Given the description of an element on the screen output the (x, y) to click on. 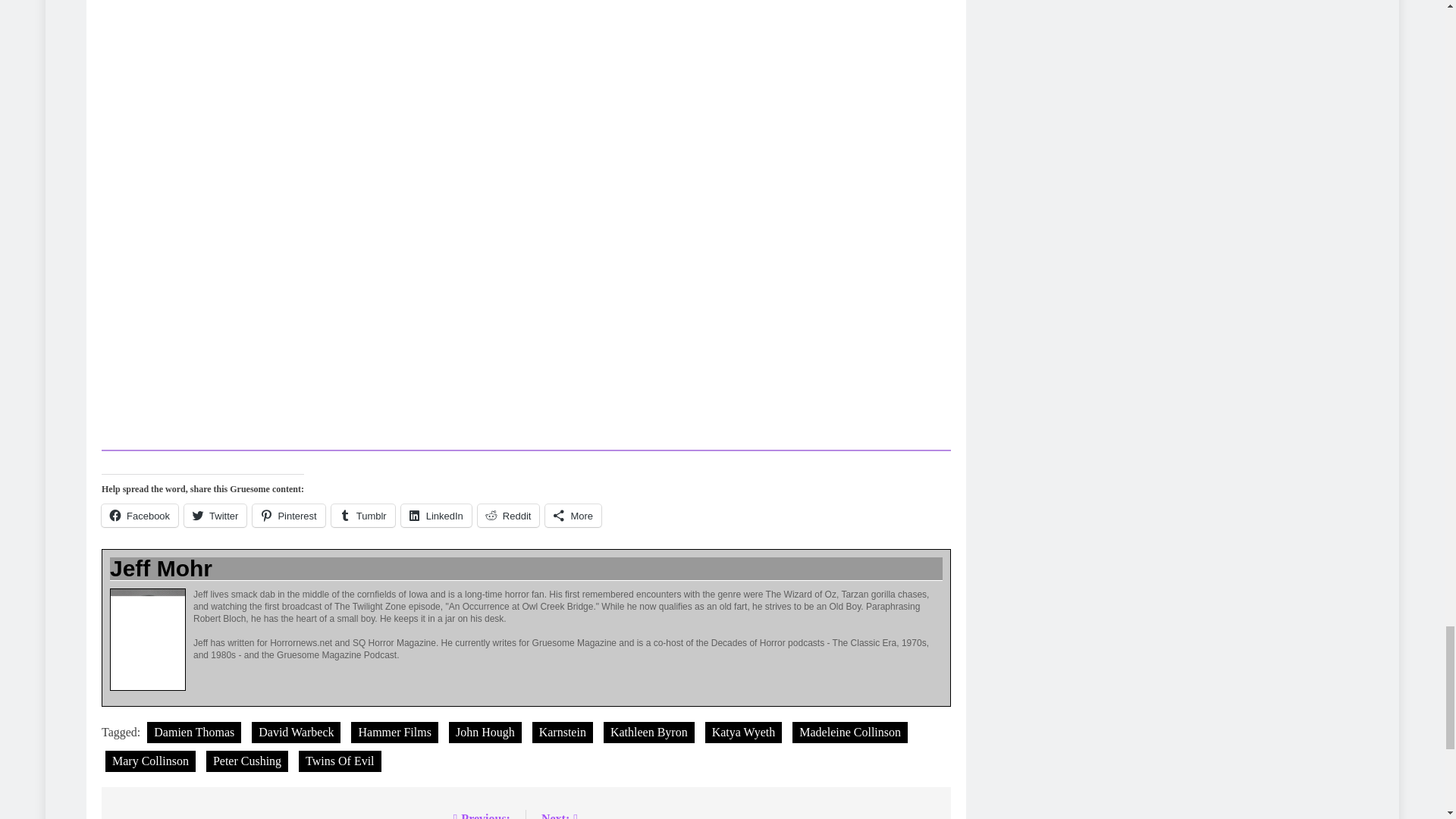
Click to share on Pinterest (287, 515)
Click to share on Reddit (508, 515)
Click to share on Twitter (215, 515)
Click to share on Tumblr (362, 515)
Click to share on LinkedIn (436, 515)
Click to share on Facebook (139, 515)
